Given the description of an element on the screen output the (x, y) to click on. 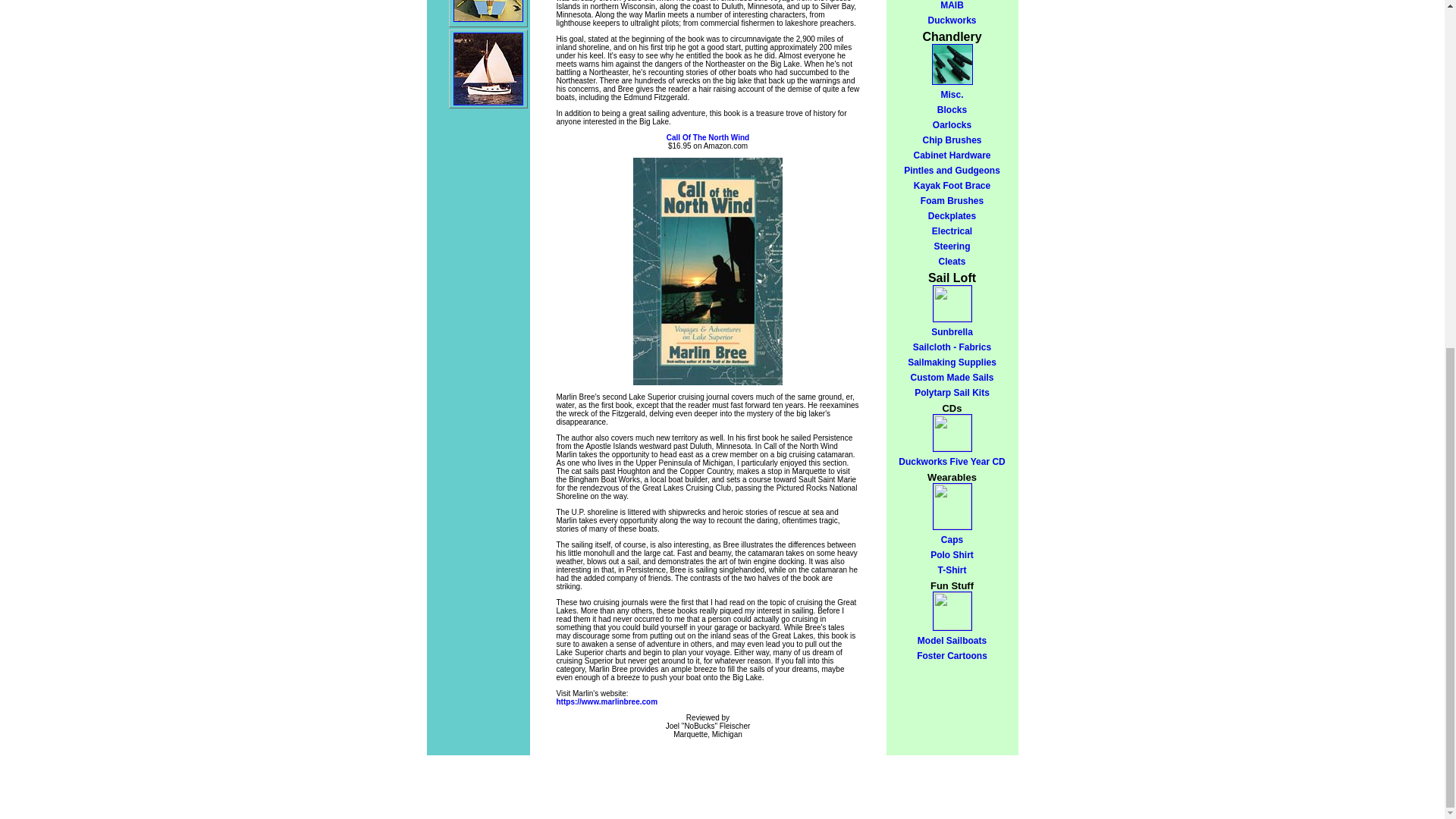
Call Of The North Wind (707, 137)
